Given the description of an element on the screen output the (x, y) to click on. 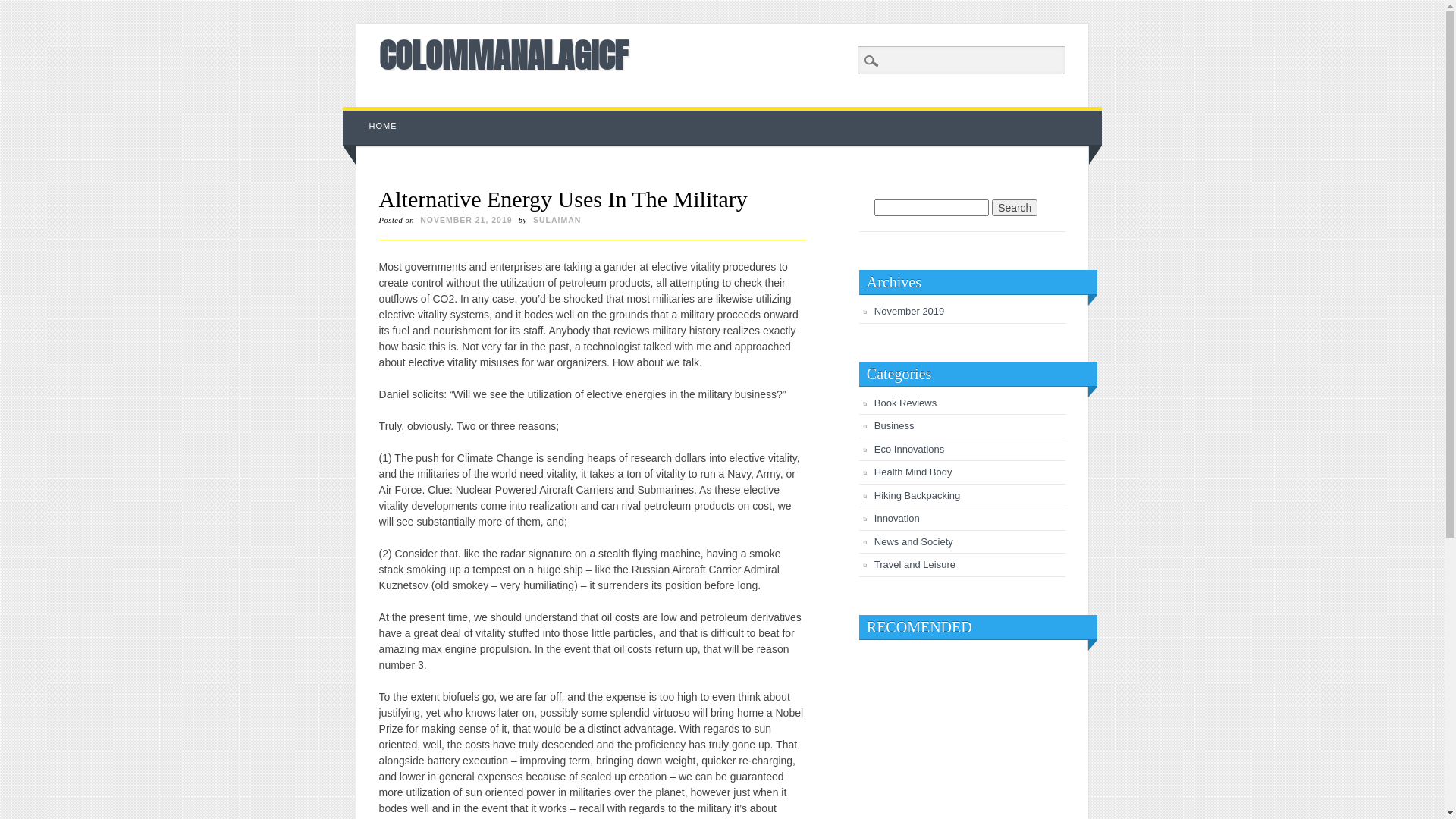
Alternative Energy Uses In The Military Element type: text (563, 198)
Health Mind Body Element type: text (913, 471)
Skip to content Element type: text (377, 114)
Search Element type: text (22, 8)
NOVEMBER 21, 2019 Element type: text (465, 219)
Innovation Element type: text (896, 518)
Eco Innovations Element type: text (909, 449)
Search Element type: text (1014, 207)
Book Reviews Element type: text (905, 402)
Travel and Leisure Element type: text (914, 564)
COLOMMANALAGICF Element type: text (503, 55)
Hiking Backpacking Element type: text (917, 495)
November 2019 Element type: text (909, 310)
Business Element type: text (894, 425)
News and Society Element type: text (913, 541)
HOME Element type: text (383, 125)
SULAIMAN Element type: text (556, 219)
